Given the description of an element on the screen output the (x, y) to click on. 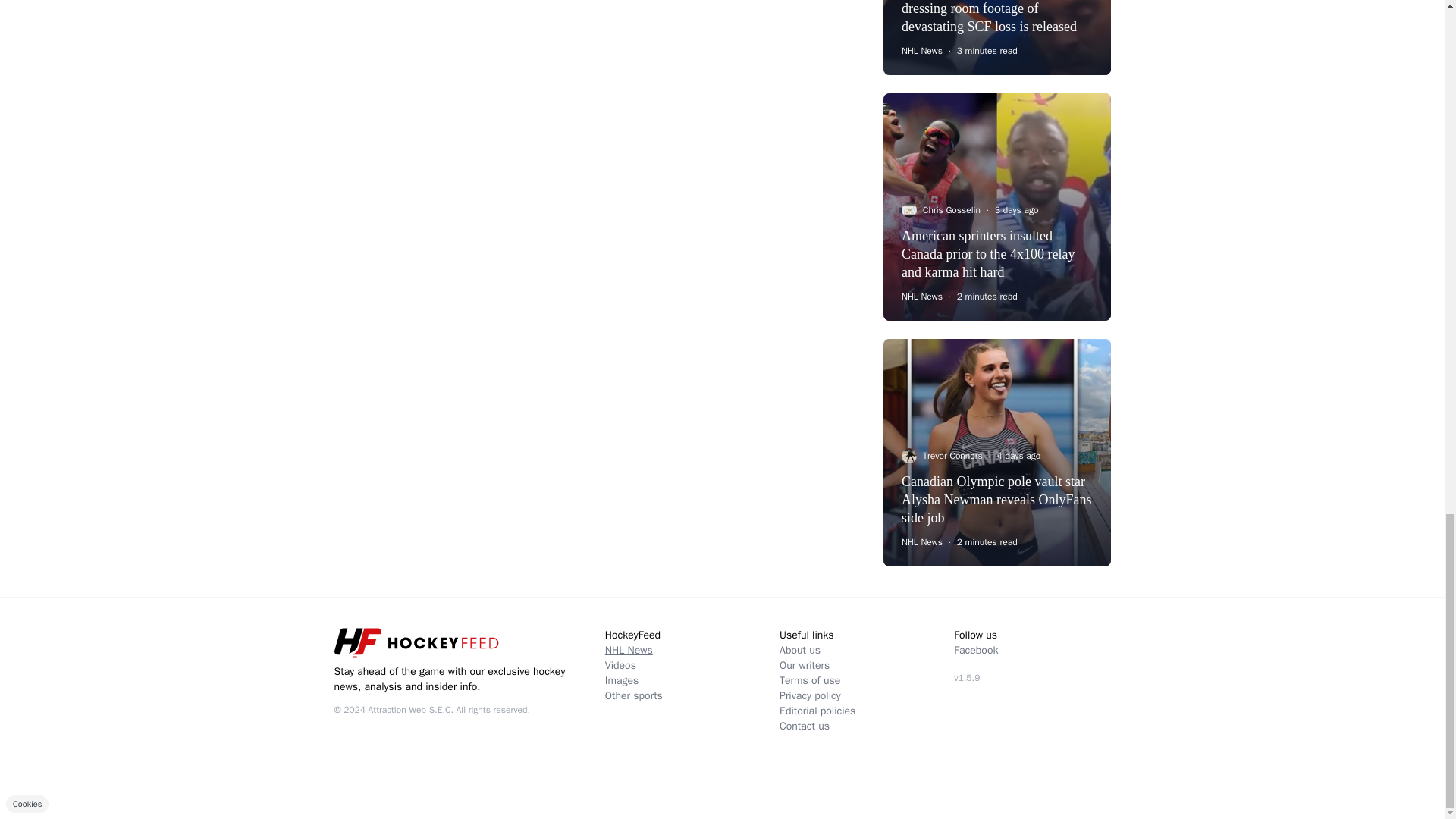
Privacy policy (809, 695)
About us (799, 649)
Other sports (633, 695)
Attraction Web S.E.C. (410, 709)
Contact us (803, 725)
Images (622, 680)
Videos (620, 665)
Editorial policies (817, 710)
NHL News (628, 649)
Facebook (975, 649)
